Given the description of an element on the screen output the (x, y) to click on. 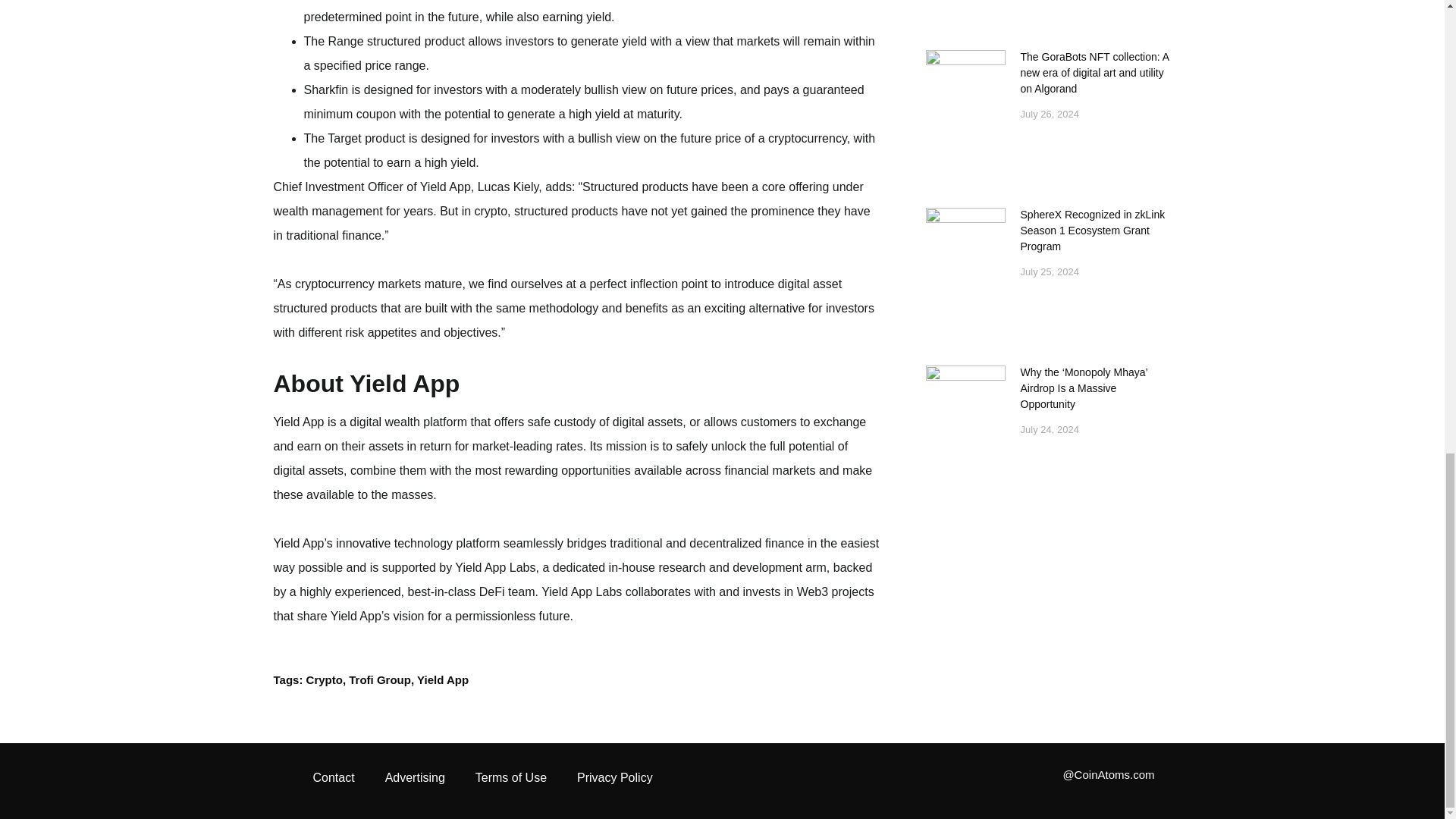
Trofi Group (379, 679)
Yield App (442, 679)
Crypto (323, 679)
